Given the description of an element on the screen output the (x, y) to click on. 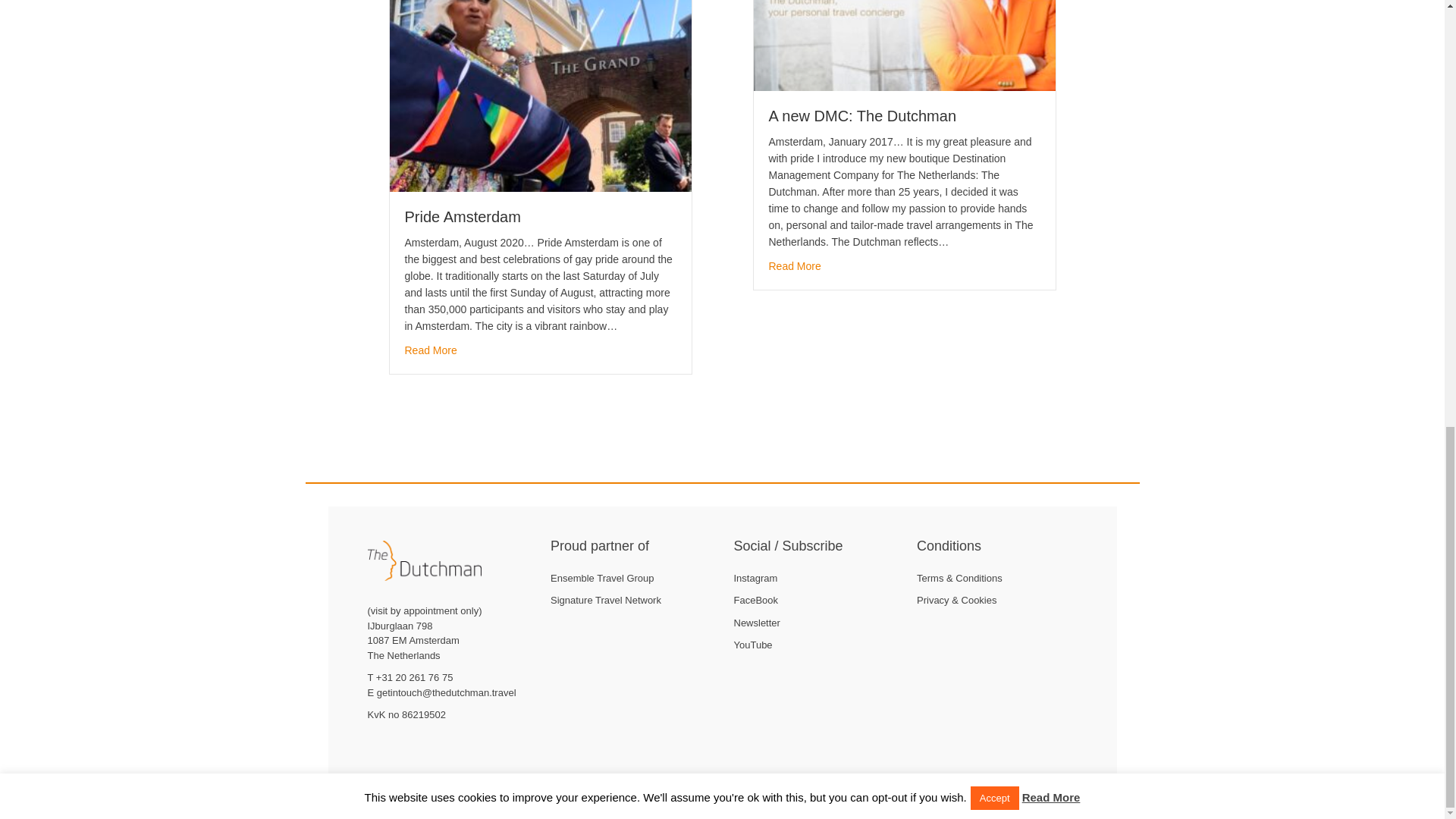
A new DMC: The Dutchman (862, 115)
Pride Amsterdam (462, 216)
Pride Amsterdam (430, 350)
A new DMC: The Dutchman (862, 115)
Pride Amsterdam (540, 77)
Pride Amsterdam (462, 216)
A new DMC: The Dutchman (794, 265)
Read More (794, 265)
